Given the description of an element on the screen output the (x, y) to click on. 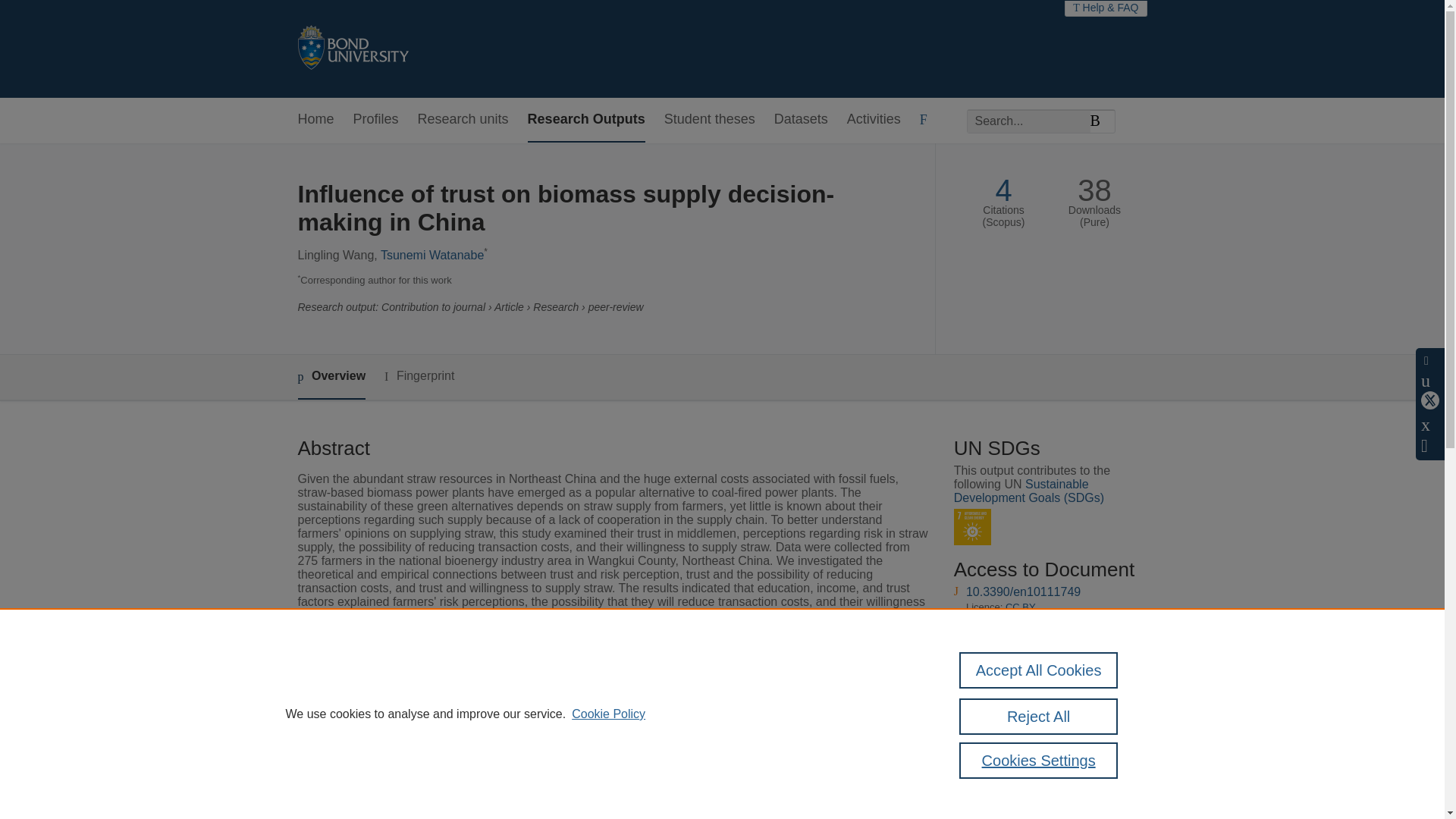
Profiles (375, 119)
Student theses (709, 119)
Activities (874, 119)
CC BY (1020, 606)
Research units (462, 119)
SDG 7 - Affordable and Clean Energy (972, 527)
Datasets (801, 119)
Fingerprint (419, 376)
Link to publication in Scopus (1045, 738)
